Given the description of an element on the screen output the (x, y) to click on. 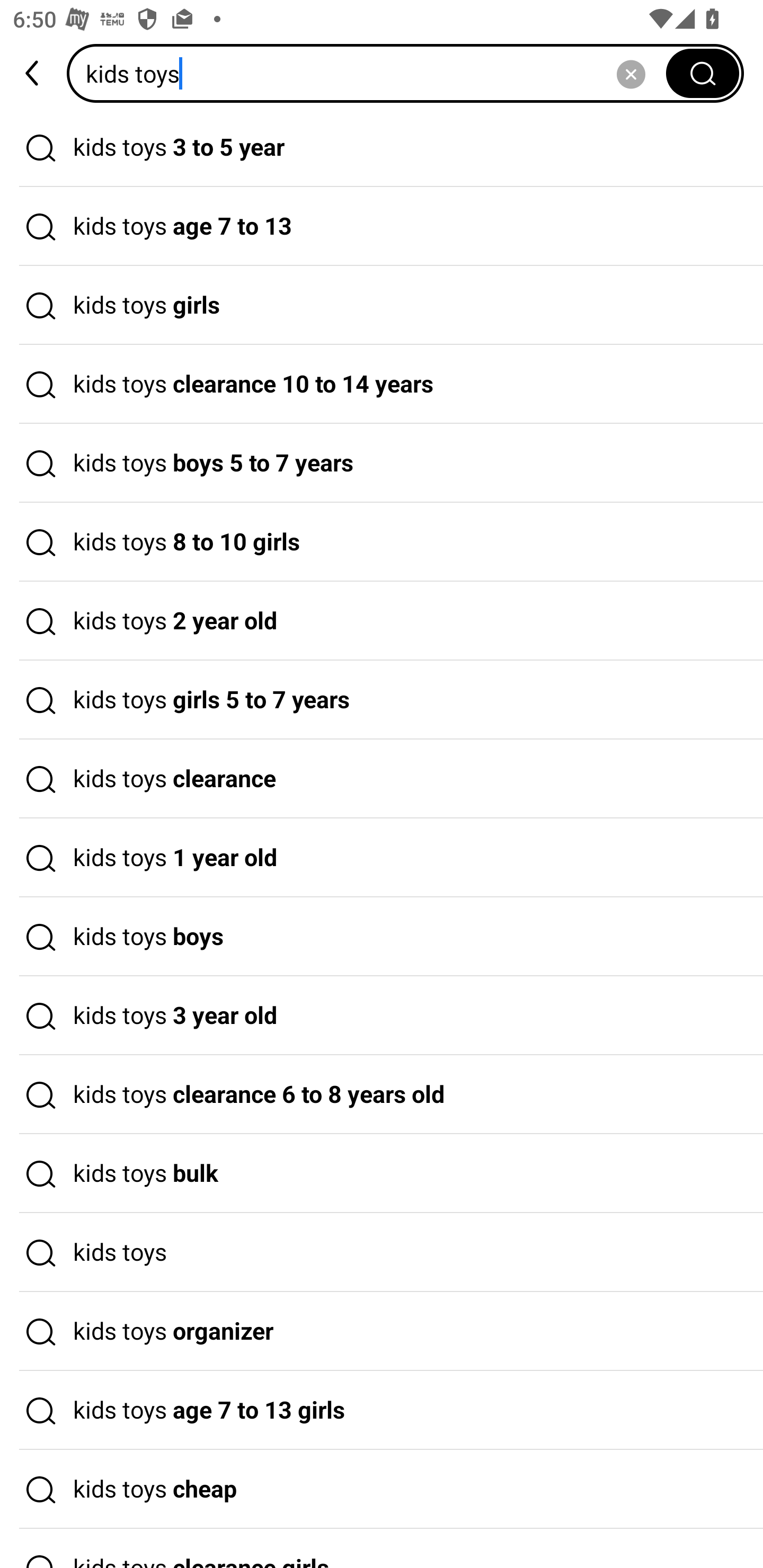
back (33, 72)
kids toys (372, 73)
Delete search history (630, 73)
kids toys 3 to 5 year (381, 147)
kids toys age 7 to 13 (381, 226)
kids toys girls (381, 305)
kids toys clearance 10 to 14 years (381, 383)
kids toys boys 5 to 7 years (381, 463)
kids toys 8 to 10 girls (381, 542)
kids toys 2 year old (381, 620)
kids toys girls 5 to 7 years (381, 700)
kids toys clearance (381, 779)
kids toys 1 year old (381, 857)
kids toys boys (381, 936)
kids toys 3 year old (381, 1015)
kids toys clearance 6 to 8 years old (381, 1094)
kids toys bulk (381, 1173)
kids toys (381, 1252)
kids toys organizer (381, 1331)
kids toys age 7 to 13 girls (381, 1410)
kids toys cheap (381, 1489)
